Given the description of an element on the screen output the (x, y) to click on. 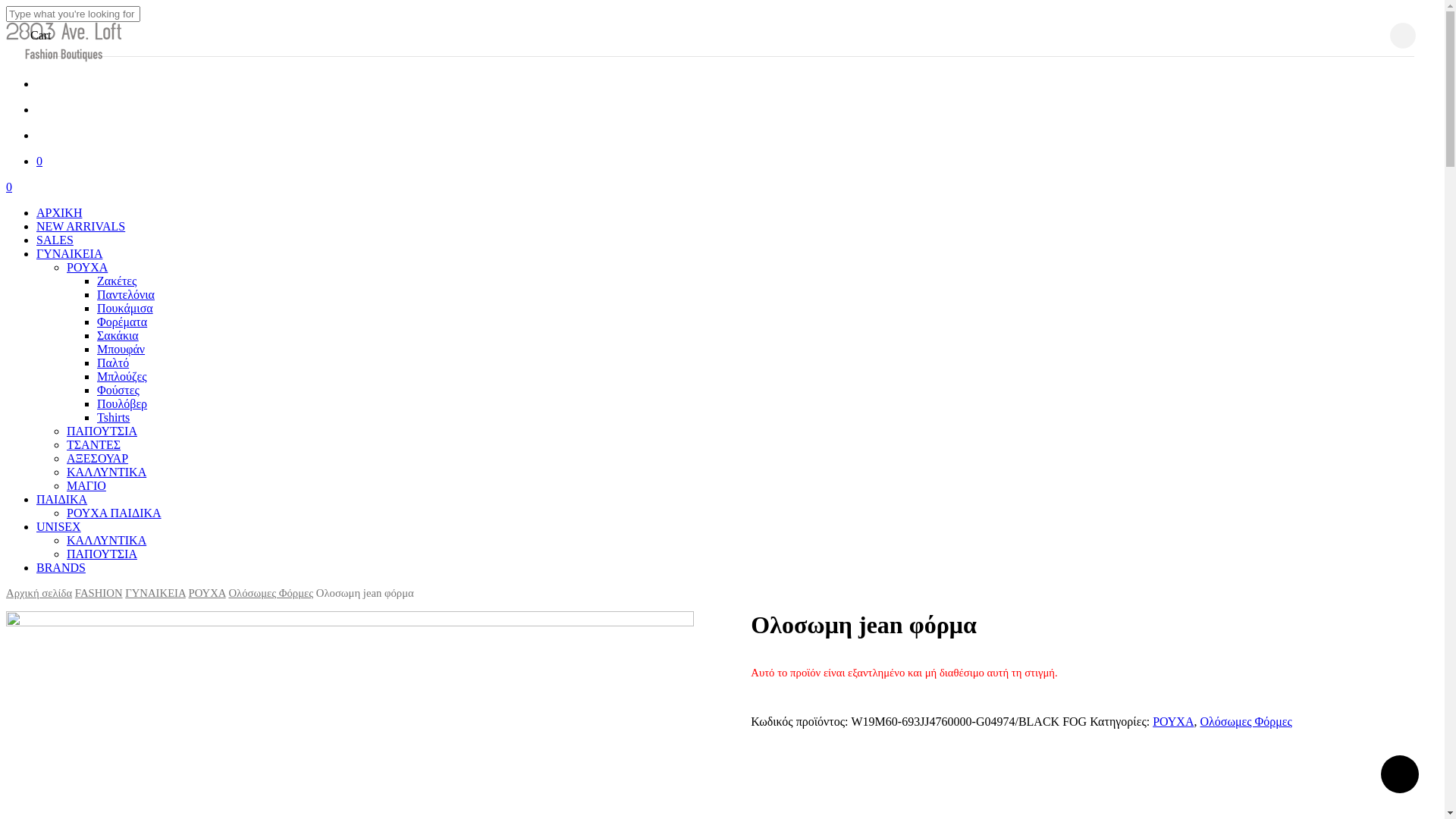
SALES Element type: text (54, 239)
NEW ARRIVALS Element type: text (80, 225)
0 Element type: text (737, 161)
BRANDS Element type: text (60, 567)
Close Cart Element type: text (1402, 35)
Tshirts Element type: text (113, 417)
FASHION Element type: text (98, 592)
Skip to main content Element type: text (5, 5)
0 Element type: text (722, 187)
UNISEX Element type: text (58, 526)
